Given the description of an element on the screen output the (x, y) to click on. 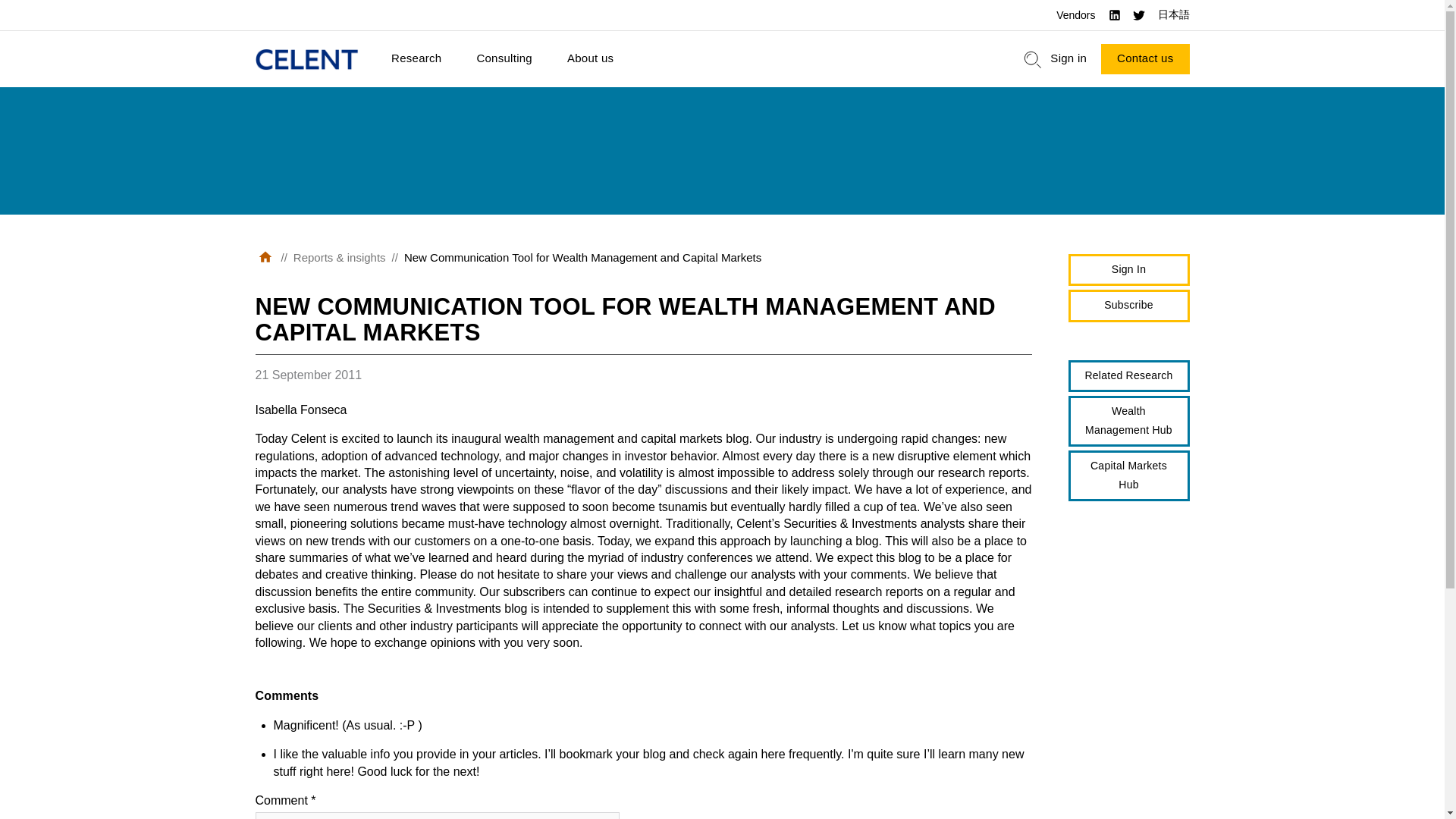
search (1032, 58)
About us (590, 59)
Research (415, 59)
Sign in (1068, 59)
Subscribe (1128, 305)
Vendors (1075, 15)
Consulting (503, 59)
Contact us (1144, 59)
Home (306, 59)
Sign In (1128, 269)
